Given the description of an element on the screen output the (x, y) to click on. 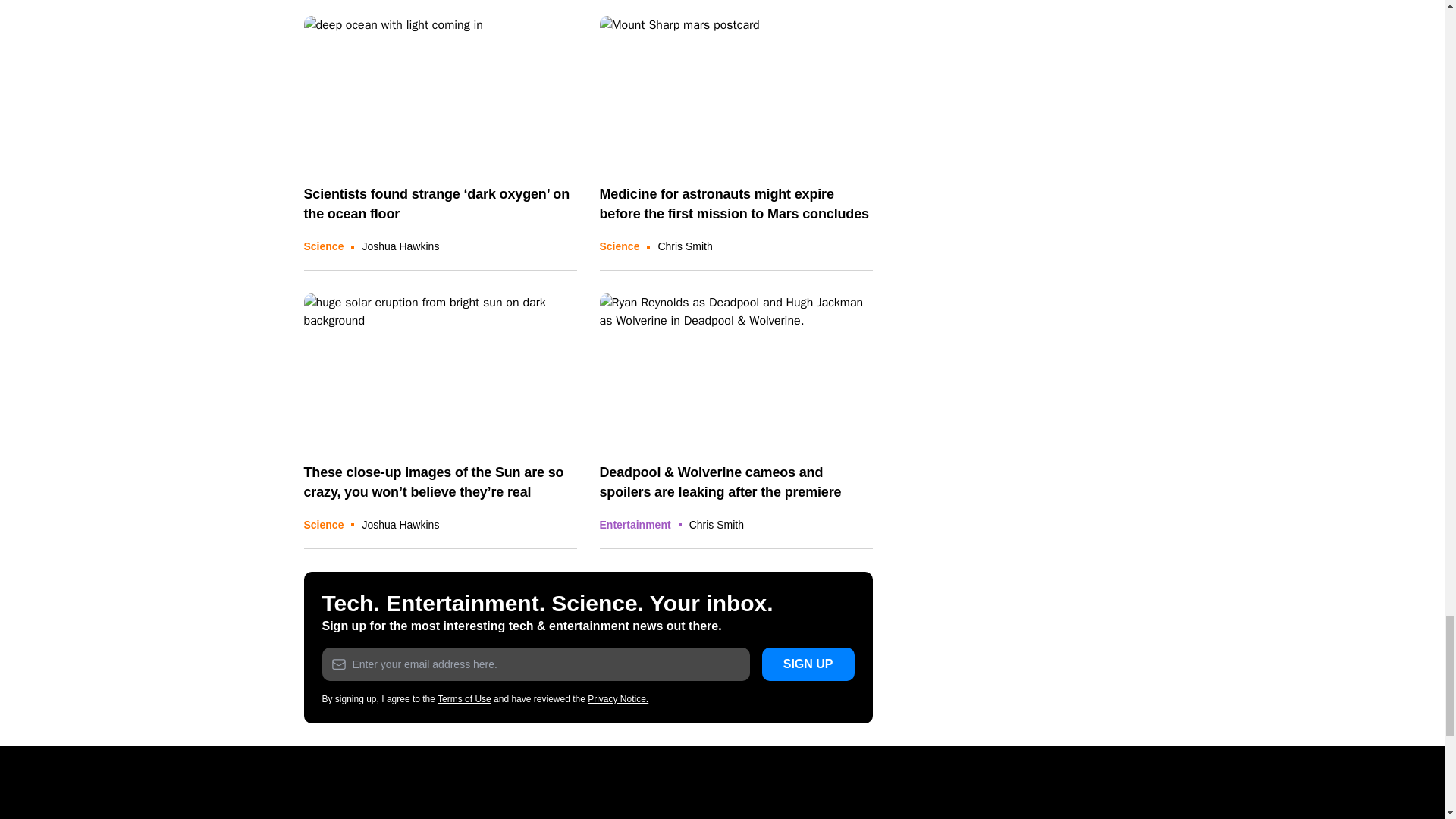
Posts by Chris Smith (684, 246)
Posts by Joshua Hawkins (400, 246)
dark oxygen (439, 92)
Posts by Chris Smith (716, 524)
Mission to Mars (735, 92)
photograph of the Sun (439, 370)
Posts by Joshua Hawkins (400, 524)
